Given the description of an element on the screen output the (x, y) to click on. 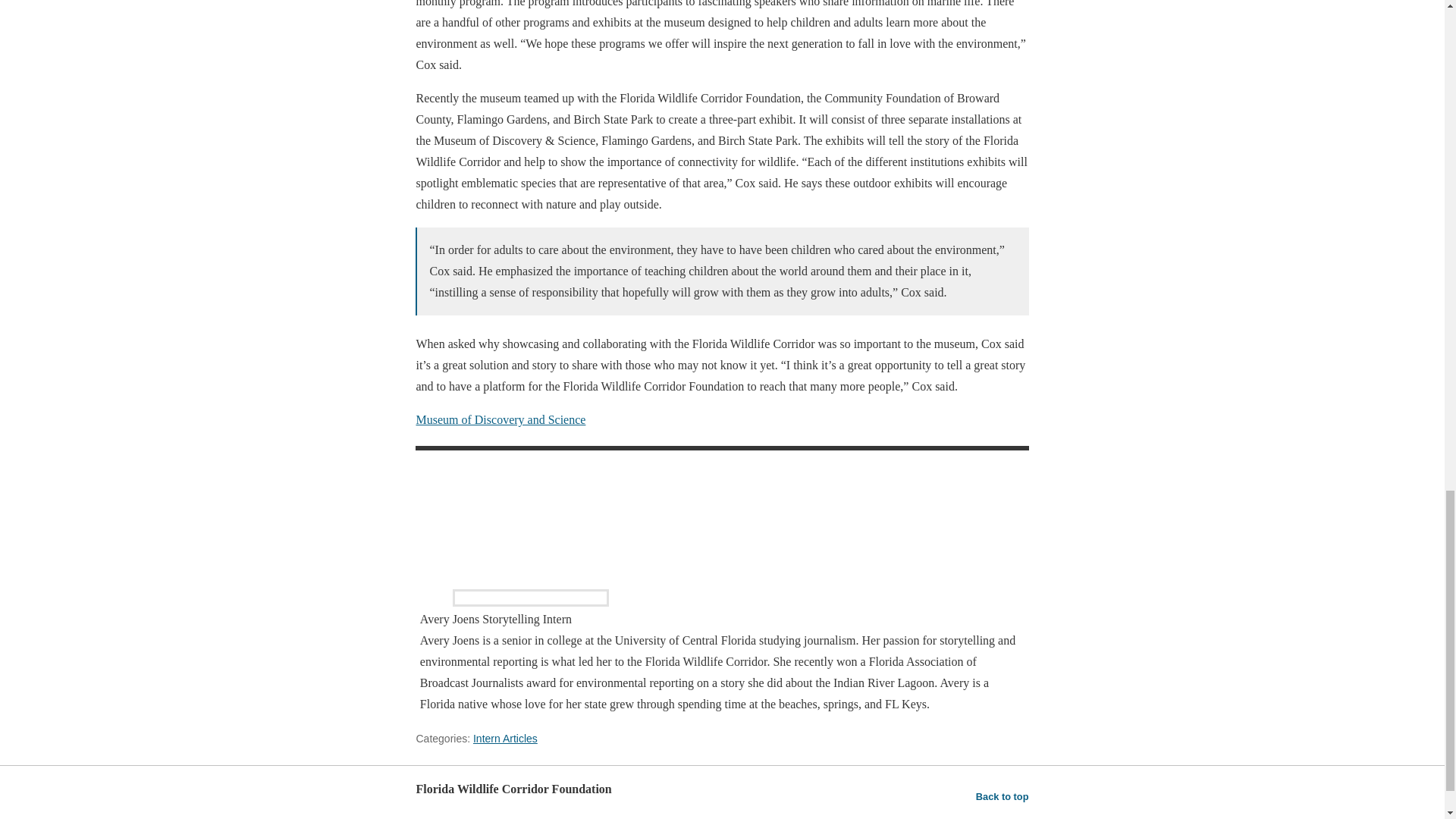
Museum of Discovery and Science (499, 419)
Intern Articles (505, 738)
Back to top (1002, 796)
Avery Joens Headshot (530, 525)
